Given the description of an element on the screen output the (x, y) to click on. 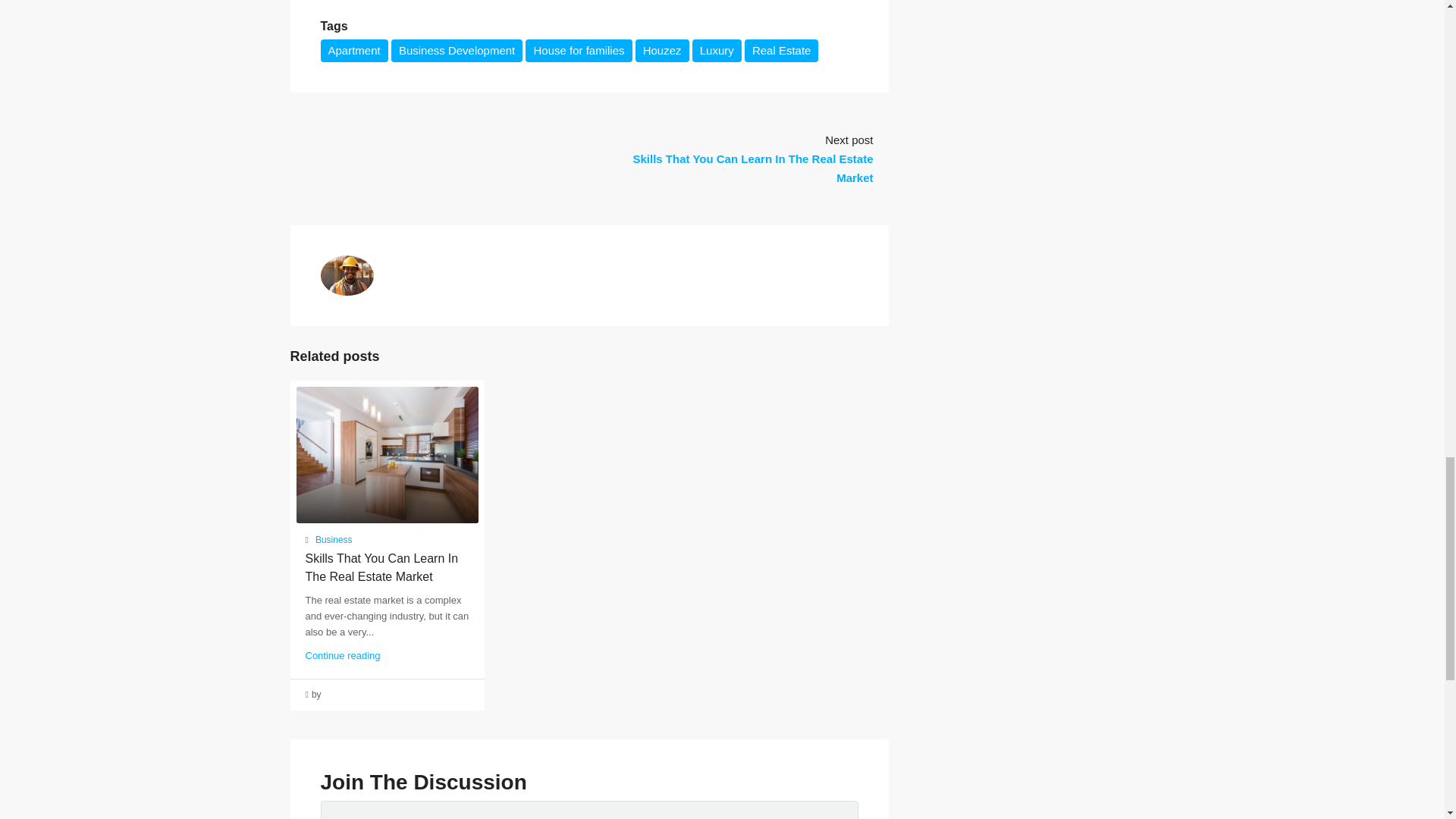
Business Development (456, 50)
Houzez (661, 50)
Skills That You Can Learn In The Real Estate Market (381, 567)
Luxury (717, 50)
Apartment (353, 50)
Business (333, 539)
House for families (578, 50)
Real Estate (781, 50)
Skills That You Can Learn In The Real Estate Market (751, 168)
Continue reading (342, 655)
